Given the description of an element on the screen output the (x, y) to click on. 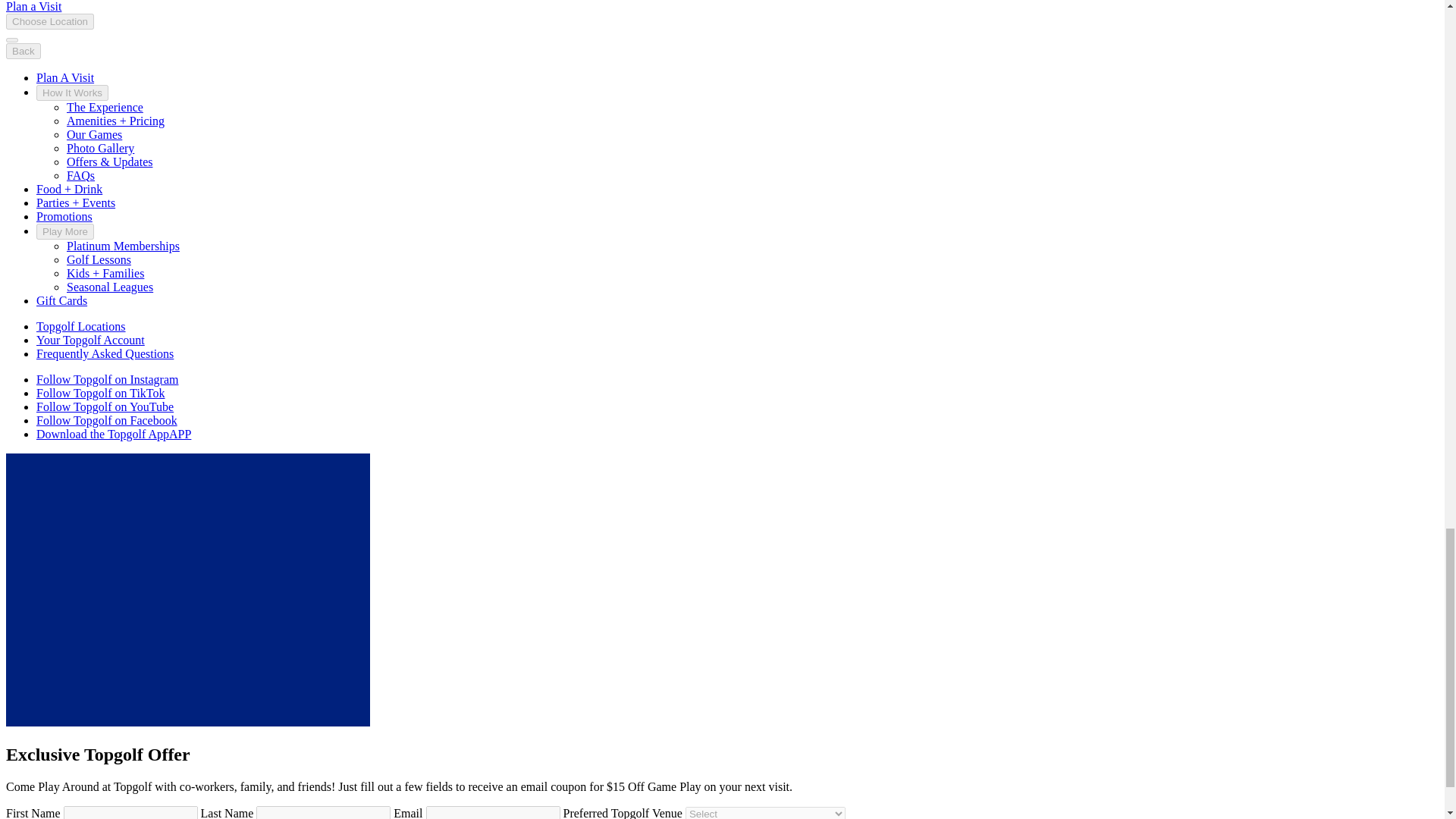
FAQs (80, 174)
How It Works (71, 92)
Platinum Memberships (122, 245)
Gift Cards (61, 300)
Your Topgolf Account (90, 339)
Topgolf Locations (80, 326)
Golf Lessons (98, 259)
Follow Topgolf on Instagram (106, 379)
Promotions (64, 215)
Follow Topgolf on YouTube (104, 406)
Frequently Asked Questions (104, 353)
Back (22, 50)
Plan A Visit (65, 77)
Follow Topgolf on TikTok (100, 392)
Download the Topgolf AppAPP (113, 433)
